Given the description of an element on the screen output the (x, y) to click on. 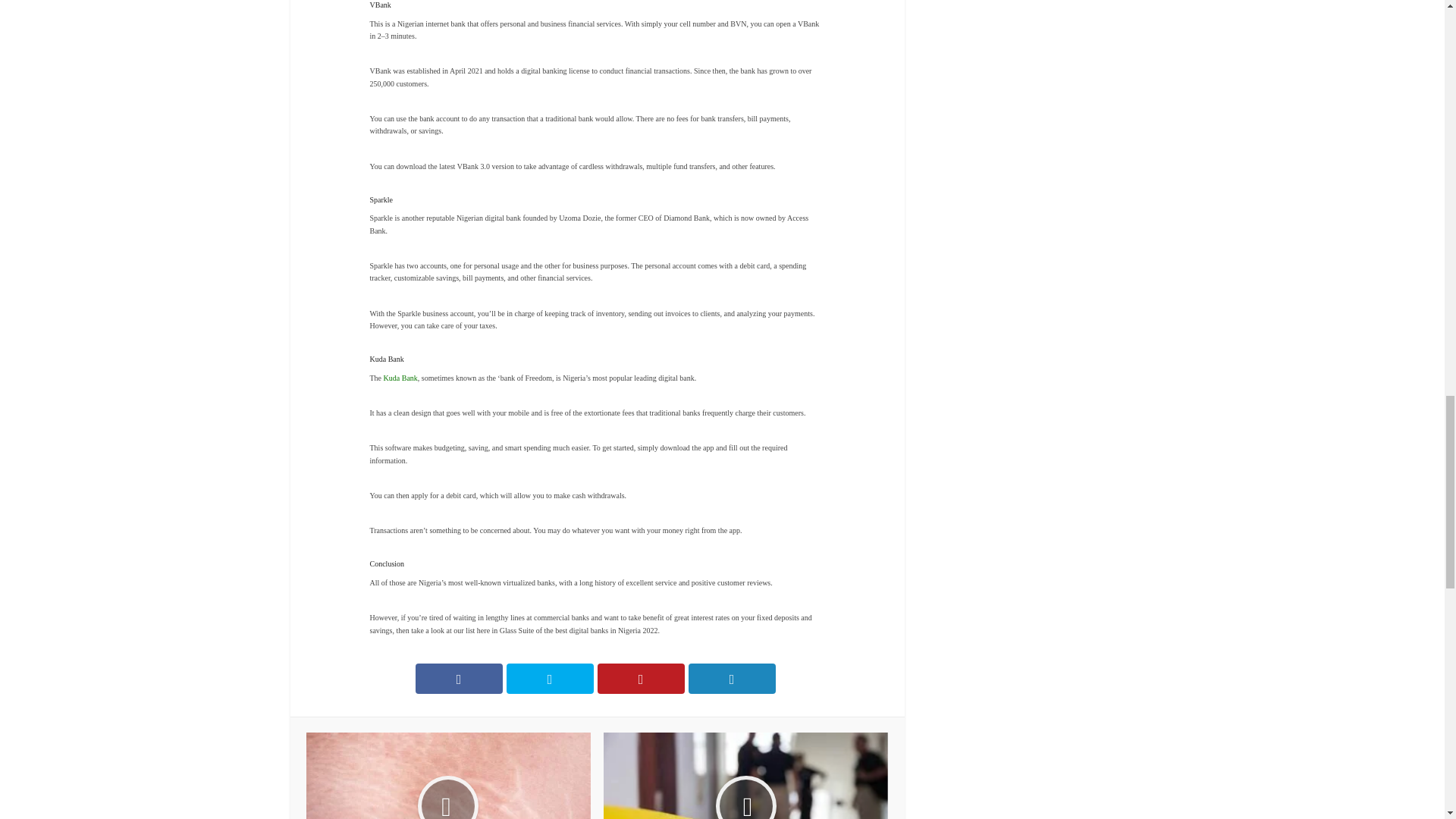
8 Best Methods On How To Remove Stretch Marks Permanently (448, 775)
Kuda Bank (400, 377)
